Given the description of an element on the screen output the (x, y) to click on. 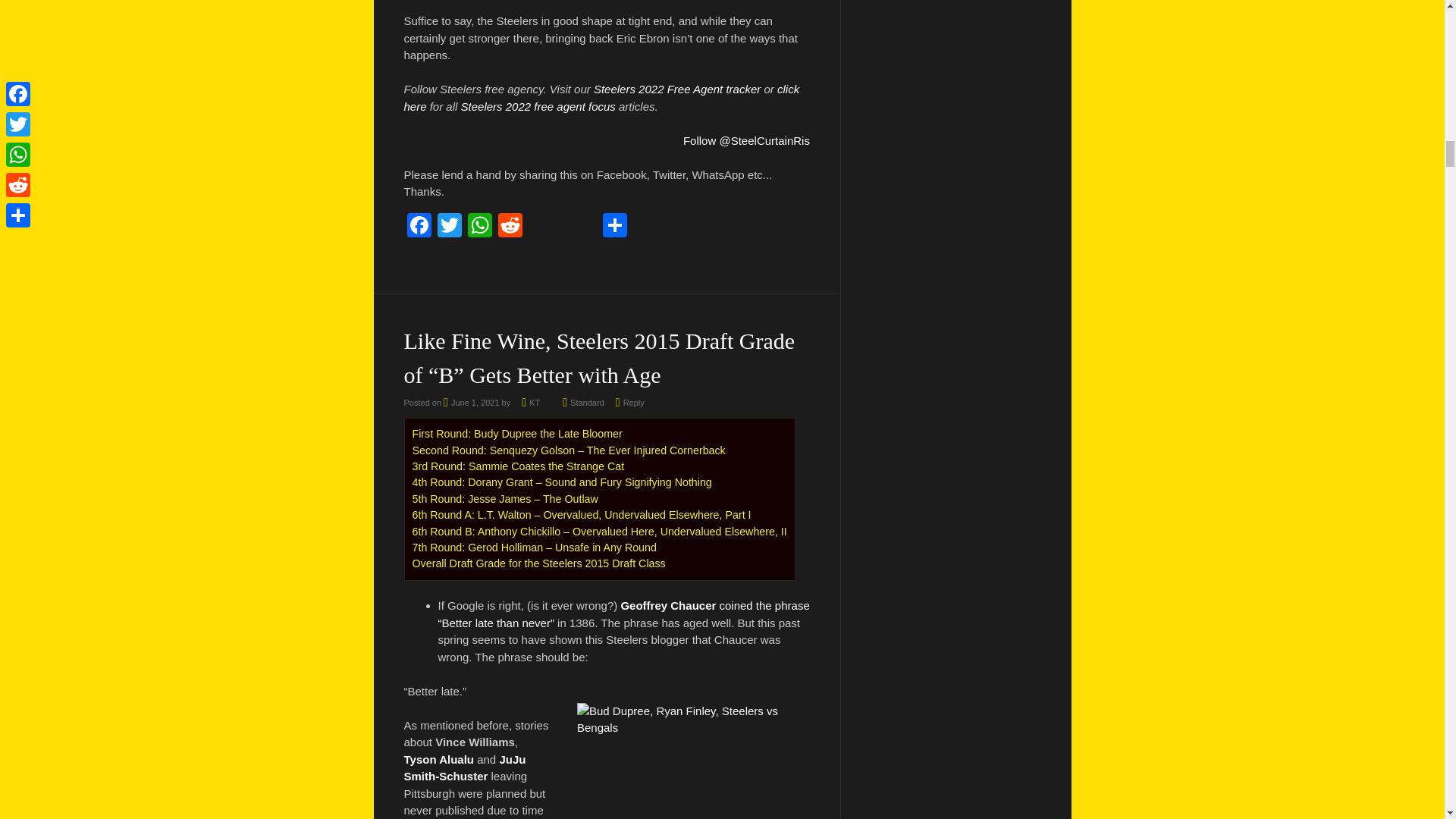
Twitter (448, 226)
Facebook (418, 226)
